Given the description of an element on the screen output the (x, y) to click on. 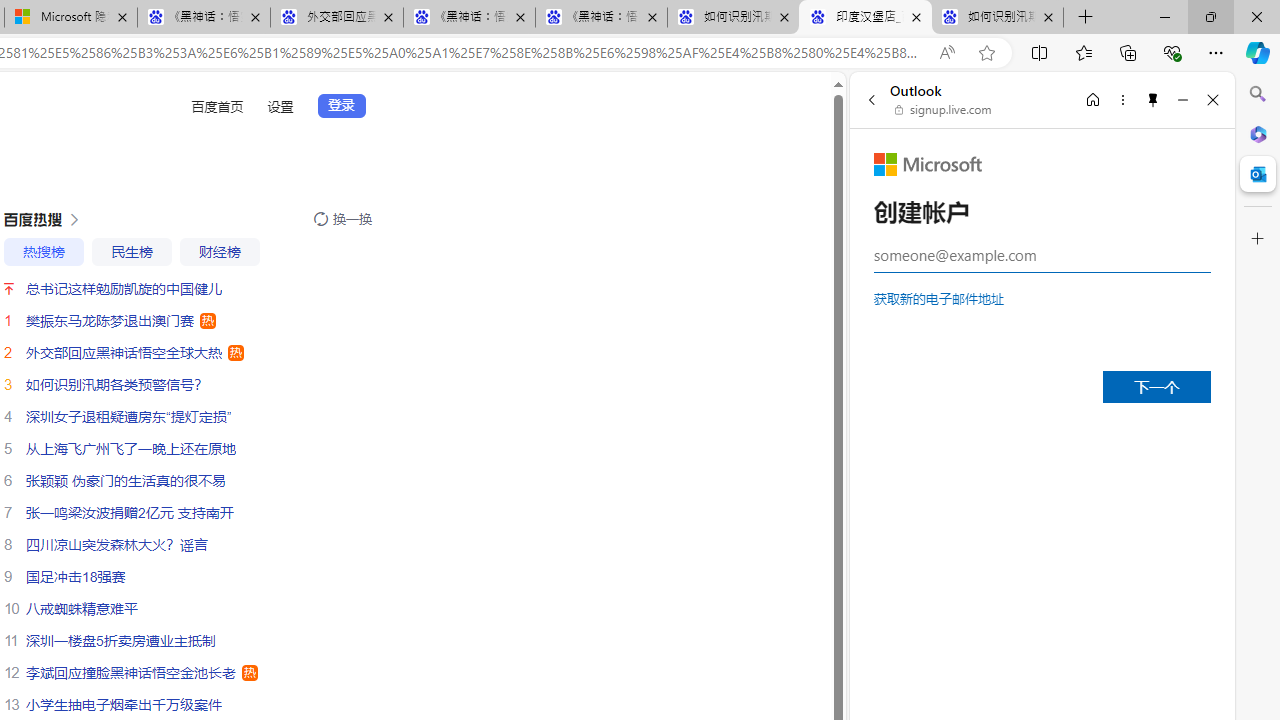
signup.live.com (943, 110)
